Given the description of an element on the screen output the (x, y) to click on. 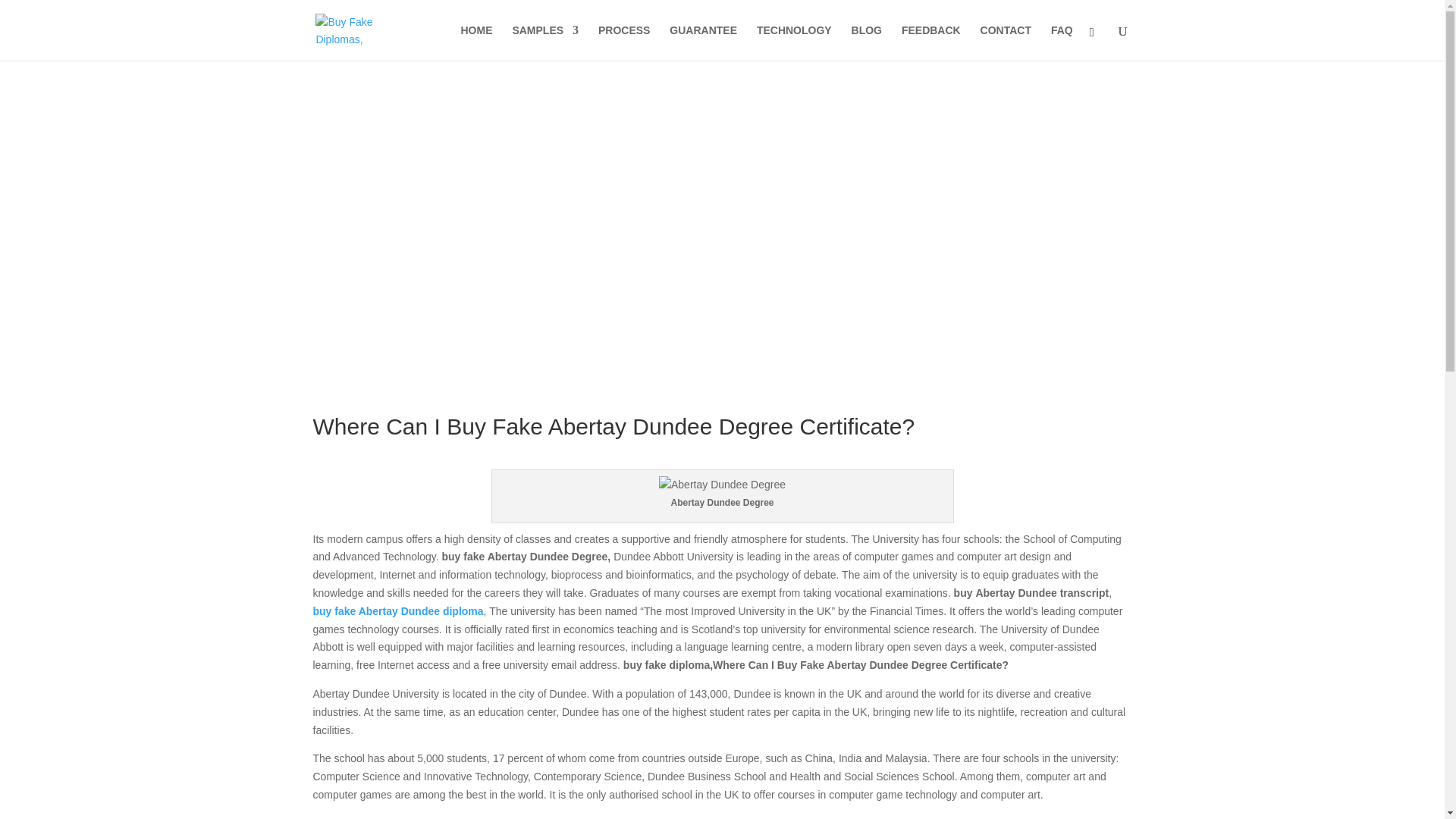
HOME (477, 42)
FAQ (1062, 42)
SAMPLES (545, 42)
TECHNOLOGY (794, 42)
BLOG (866, 42)
CONTACT (1004, 42)
FEEDBACK (930, 42)
PROCESS (623, 42)
buy fake Abertay Dundee diploma (398, 611)
GUARANTEE (702, 42)
